Given the description of an element on the screen output the (x, y) to click on. 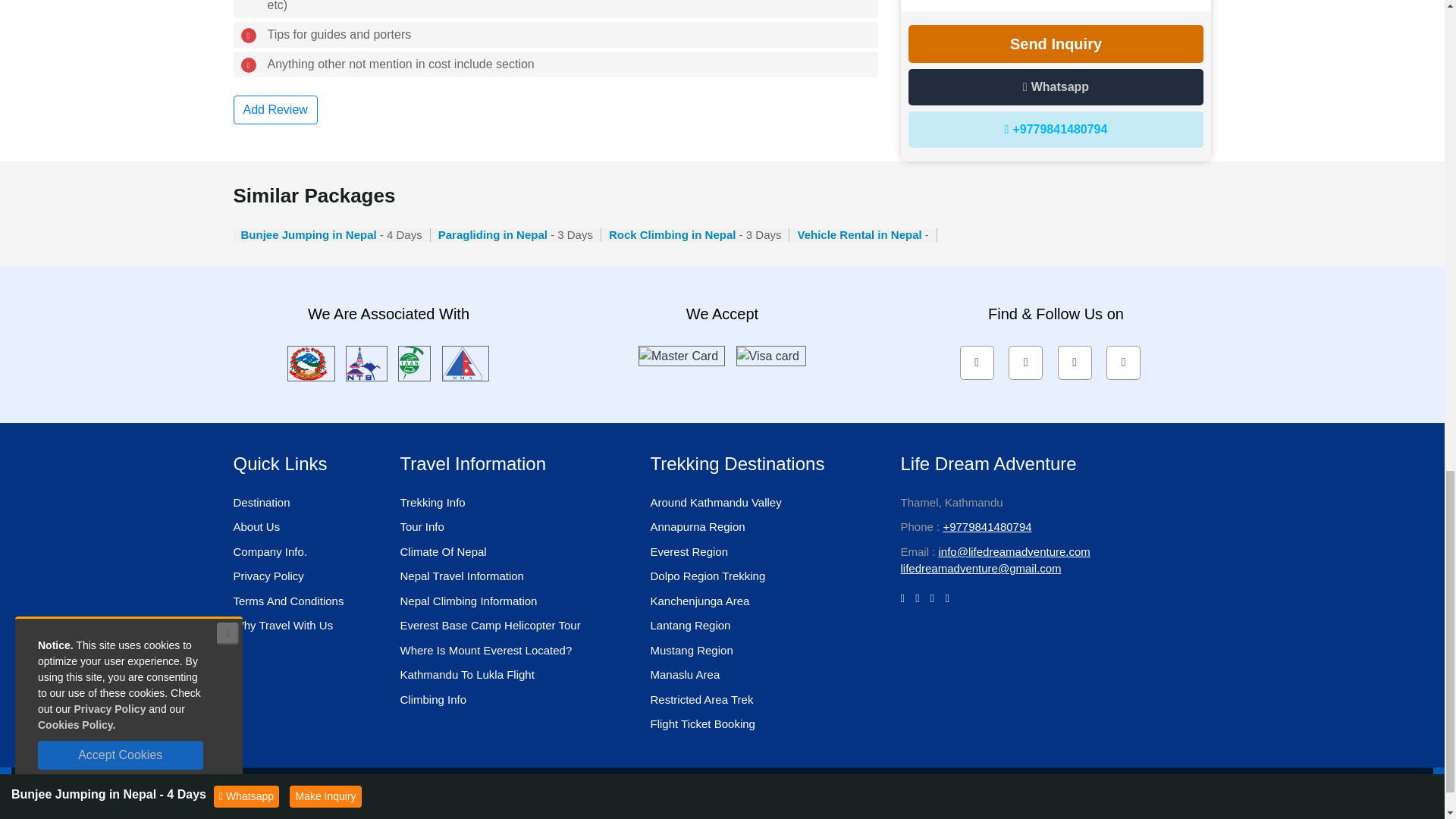
Master Card (681, 354)
Visa card (770, 354)
Tourism Ministry of Nepal (310, 362)
Nepal Mountaineering Association (465, 362)
TAAN (413, 362)
Nepal Tourism Board (365, 362)
